Given the description of an element on the screen output the (x, y) to click on. 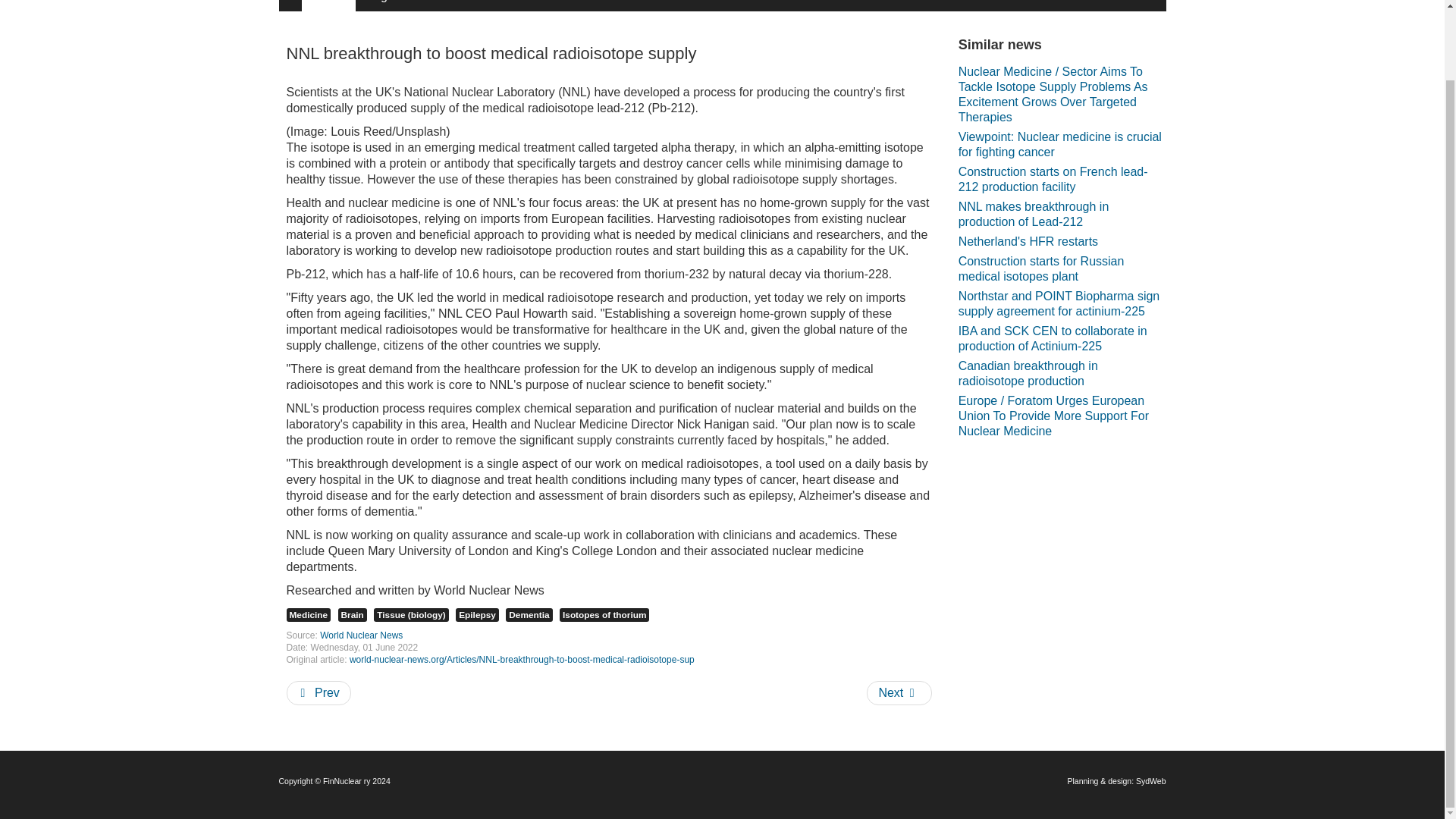
NNL makes breakthrough in production of Lead-212 (1062, 214)
SydWeb (1150, 780)
Viewpoint: Nuclear medicine is crucial for fighting cancer (1062, 144)
IBA and SCK CEN to collaborate in production of Actinium-225 (1062, 338)
Isotopes of thorium (604, 614)
Login (381, 5)
Construction starts on French lead-212 production facility (1062, 179)
World Nuclear News (361, 634)
Next (898, 692)
Construction starts for Russian medical isotopes plant (1062, 268)
